Given the description of an element on the screen output the (x, y) to click on. 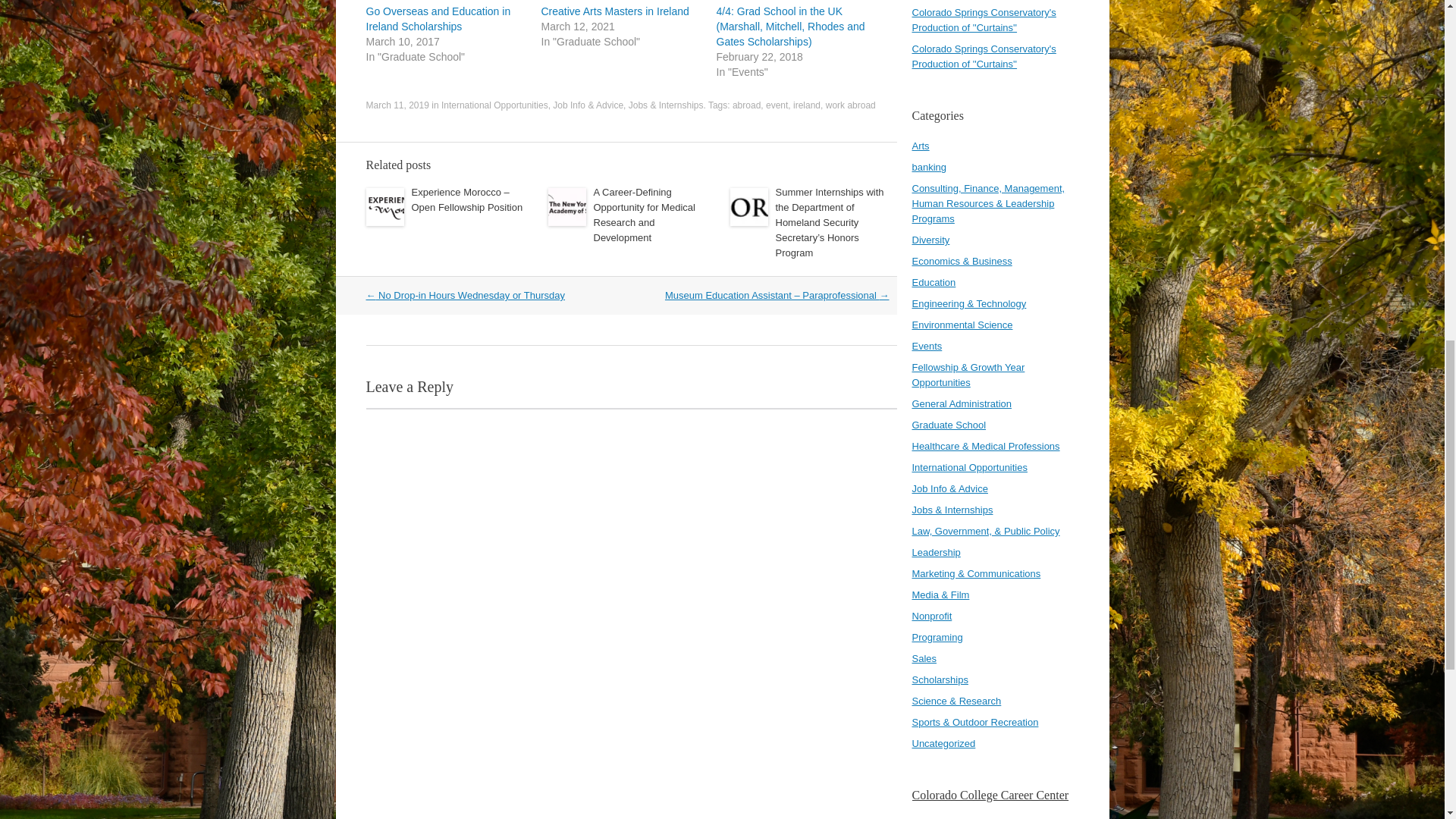
Go Overseas and Education in Ireland Scholarships (438, 18)
abroad (746, 104)
Creative Arts Masters in Ireland (614, 10)
work abroad (850, 104)
International Opportunities (494, 104)
Go Overseas and Education in Ireland Scholarships (438, 18)
event (776, 104)
March 11, 2019 (396, 104)
ireland (807, 104)
Creative Arts Masters in Ireland (614, 10)
